Given the description of an element on the screen output the (x, y) to click on. 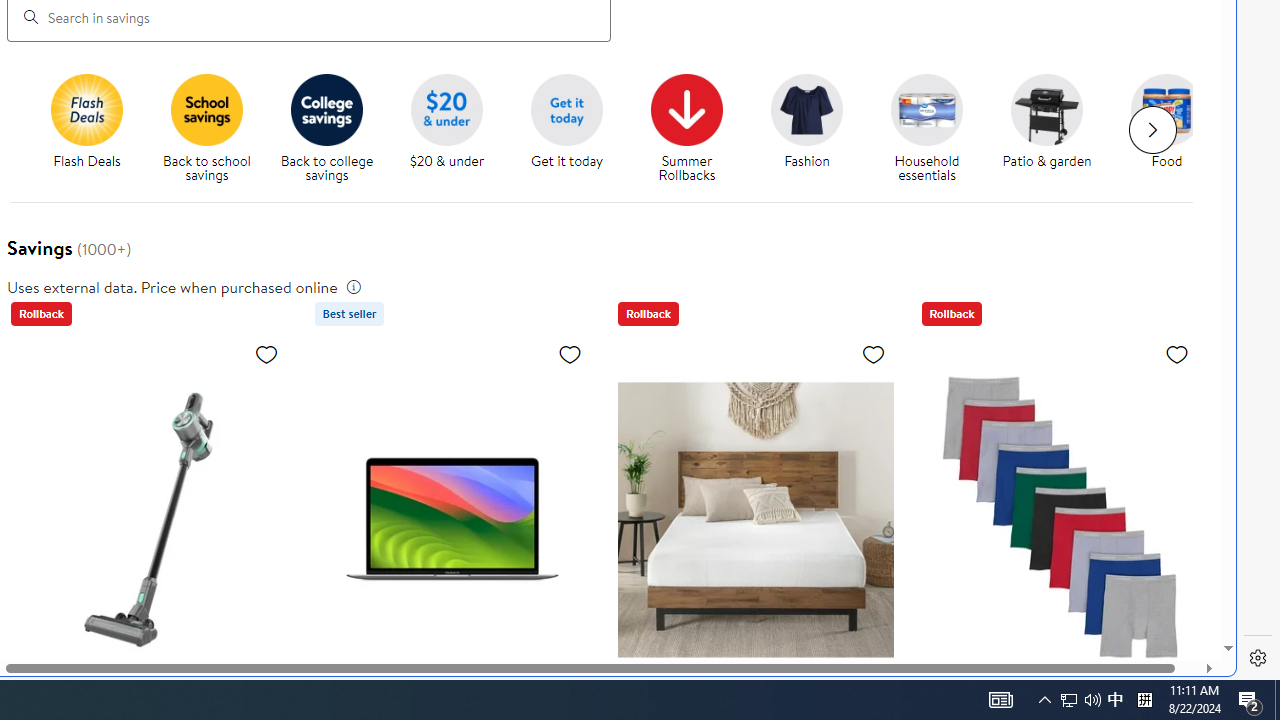
Patio & garden (1054, 128)
Back to school savings (214, 128)
Next slide for chipModuleWithImages list (1152, 129)
Back to college savings (335, 128)
Flash Deals (94, 128)
$20 and under (446, 109)
Fashion (815, 128)
Flash deals Flash Deals (86, 122)
